Given the description of an element on the screen output the (x, y) to click on. 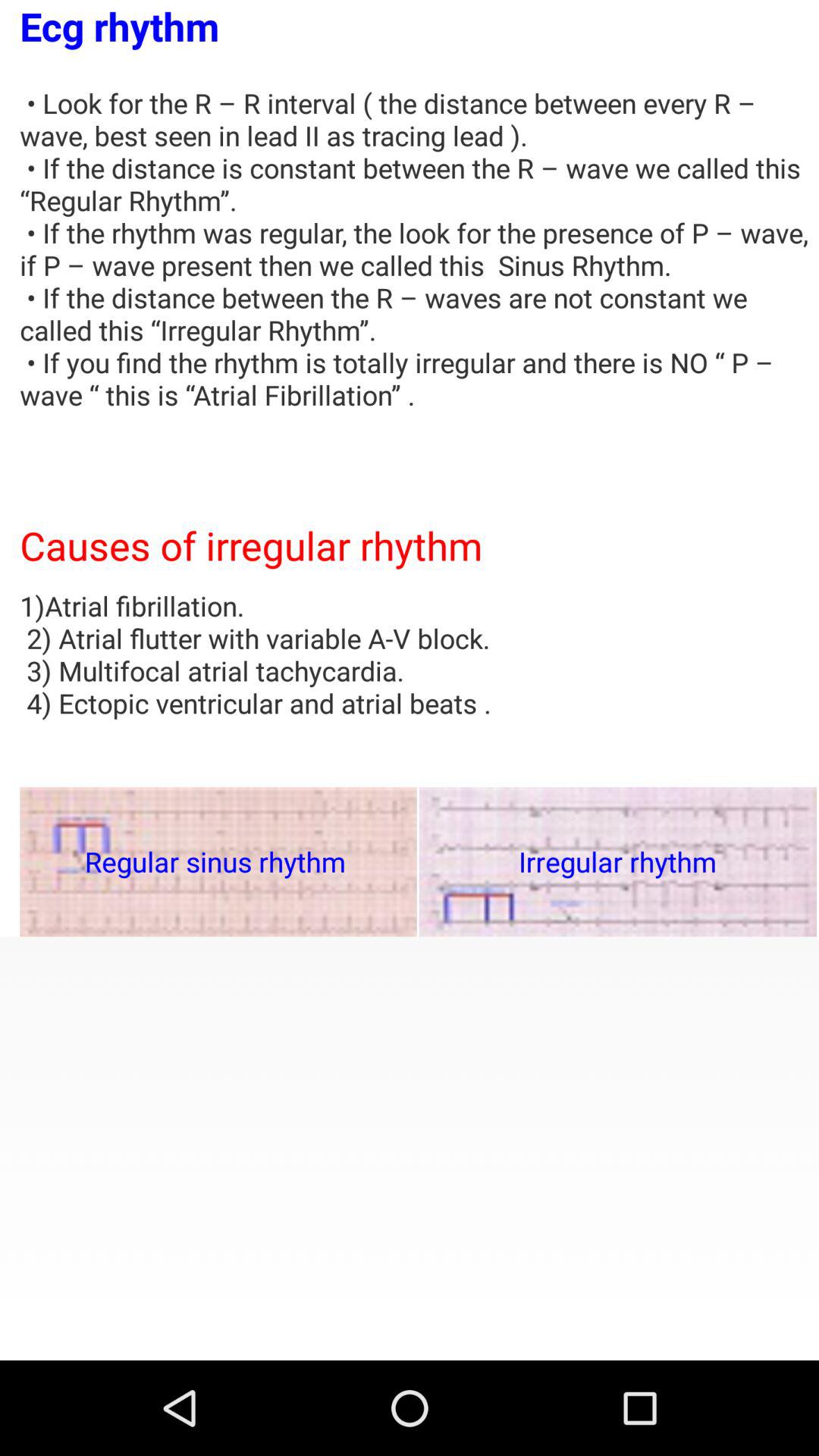
jump until the regular sinus rhythm  button (217, 861)
